Given the description of an element on the screen output the (x, y) to click on. 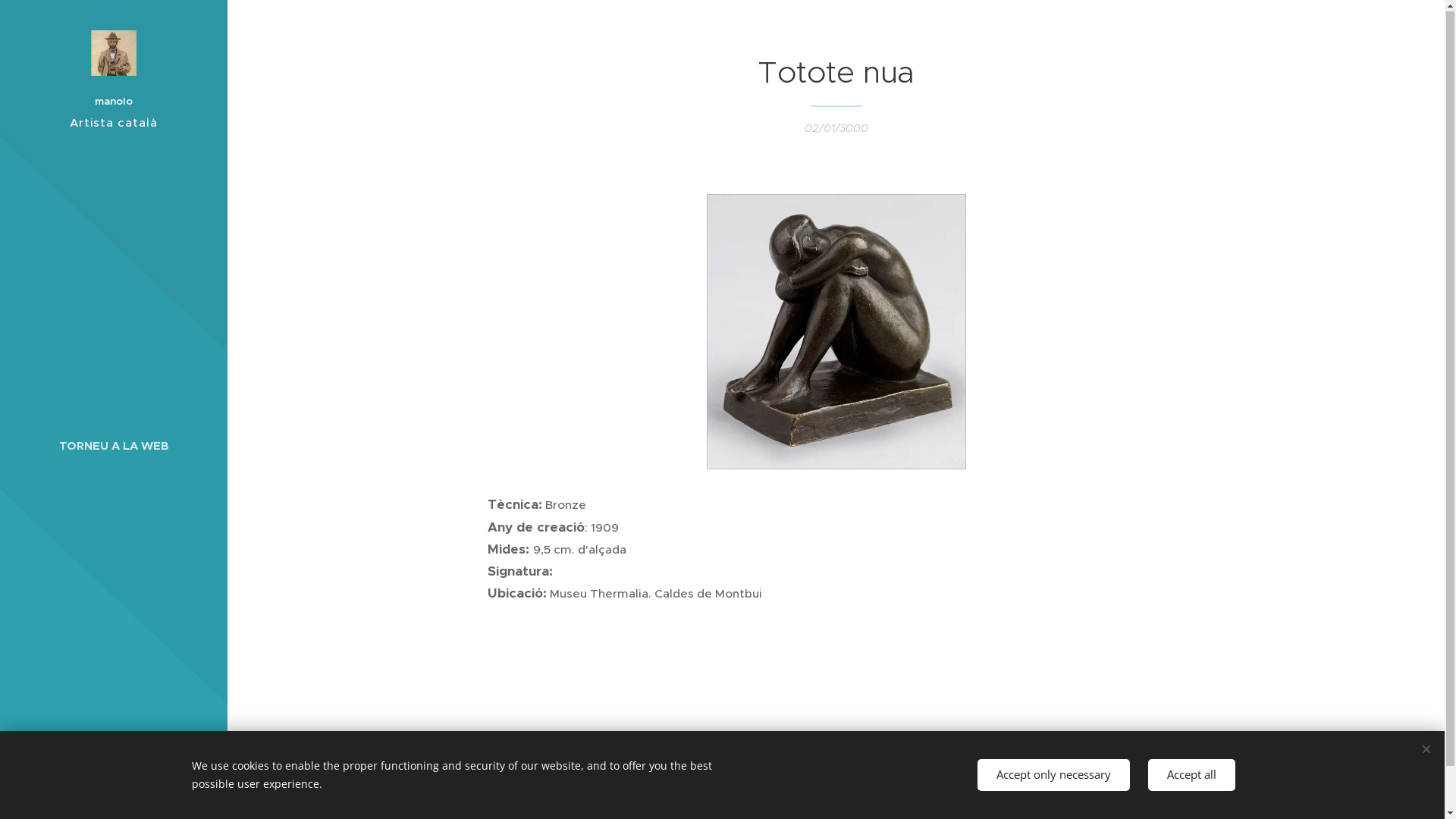
Cookies Element type: text (113, 796)
Accept only necessary Element type: text (1052, 774)
manolo Element type: text (113, 72)
TORNEU A LA WEB Element type: text (113, 446)
Webnode Element type: text (145, 777)
Accept all Element type: text (1191, 774)
